Given the description of an element on the screen output the (x, y) to click on. 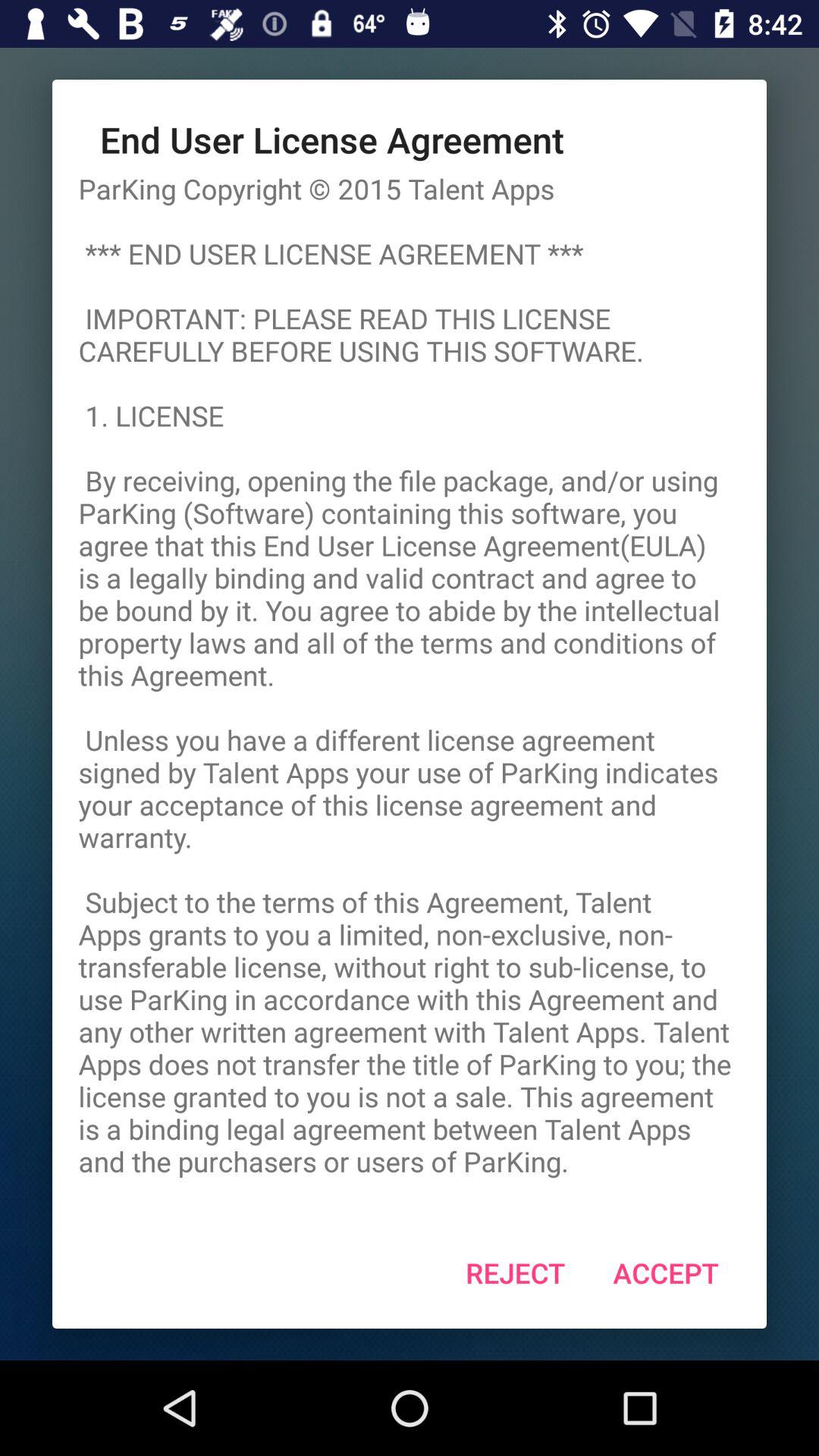
swipe to the accept icon (665, 1272)
